Given the description of an element on the screen output the (x, y) to click on. 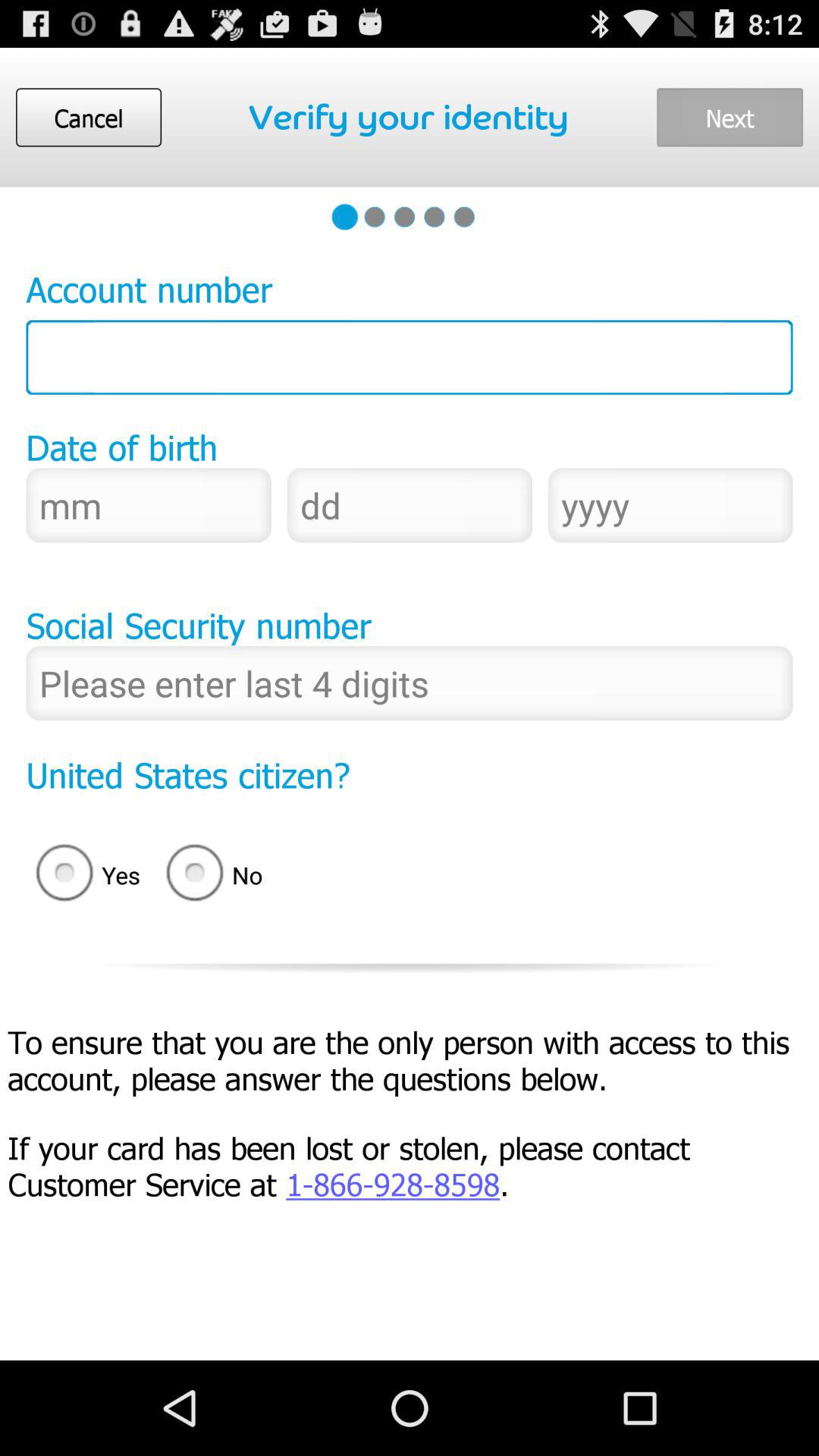
open the icon below the united states citizen? (219, 875)
